Given the description of an element on the screen output the (x, y) to click on. 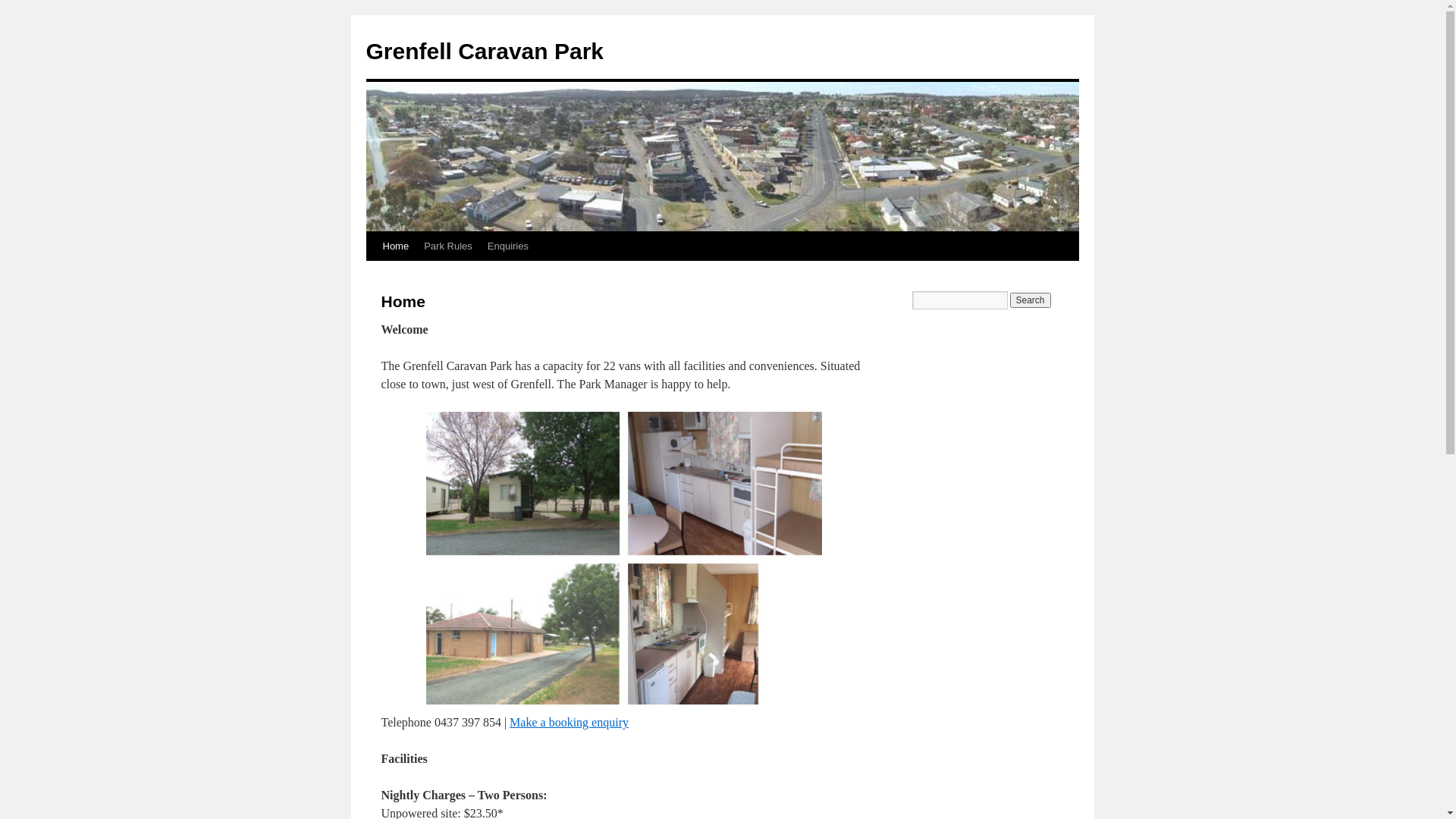
Enquiries Element type: text (508, 246)
Make a booking enquiry Element type: text (568, 721)
Grenfell Caravan Park Element type: text (484, 50)
Skip to content Element type: text (372, 274)
Home Element type: text (395, 246)
Search Element type: text (1030, 299)
Park Rules Element type: text (448, 246)
